Given the description of an element on the screen output the (x, y) to click on. 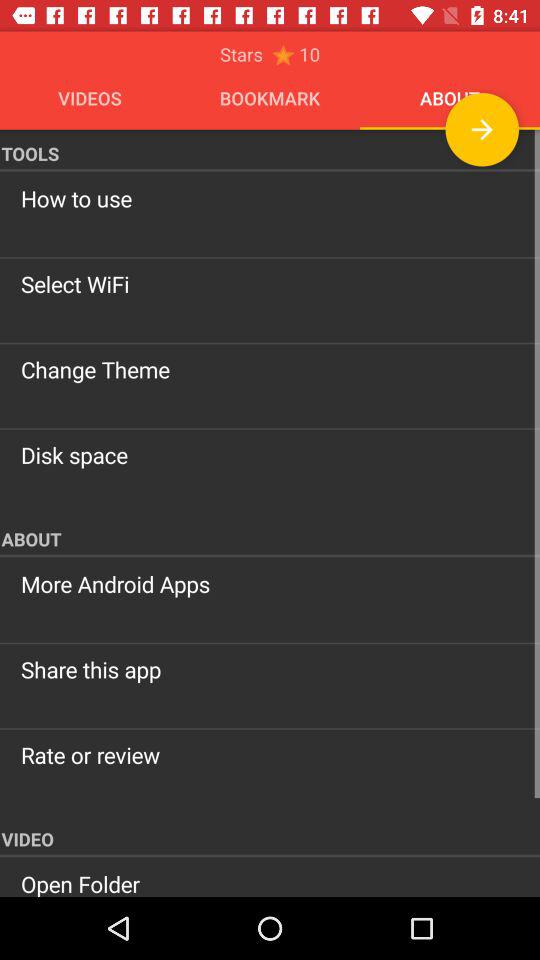
launch the select wifi item (270, 284)
